Given the description of an element on the screen output the (x, y) to click on. 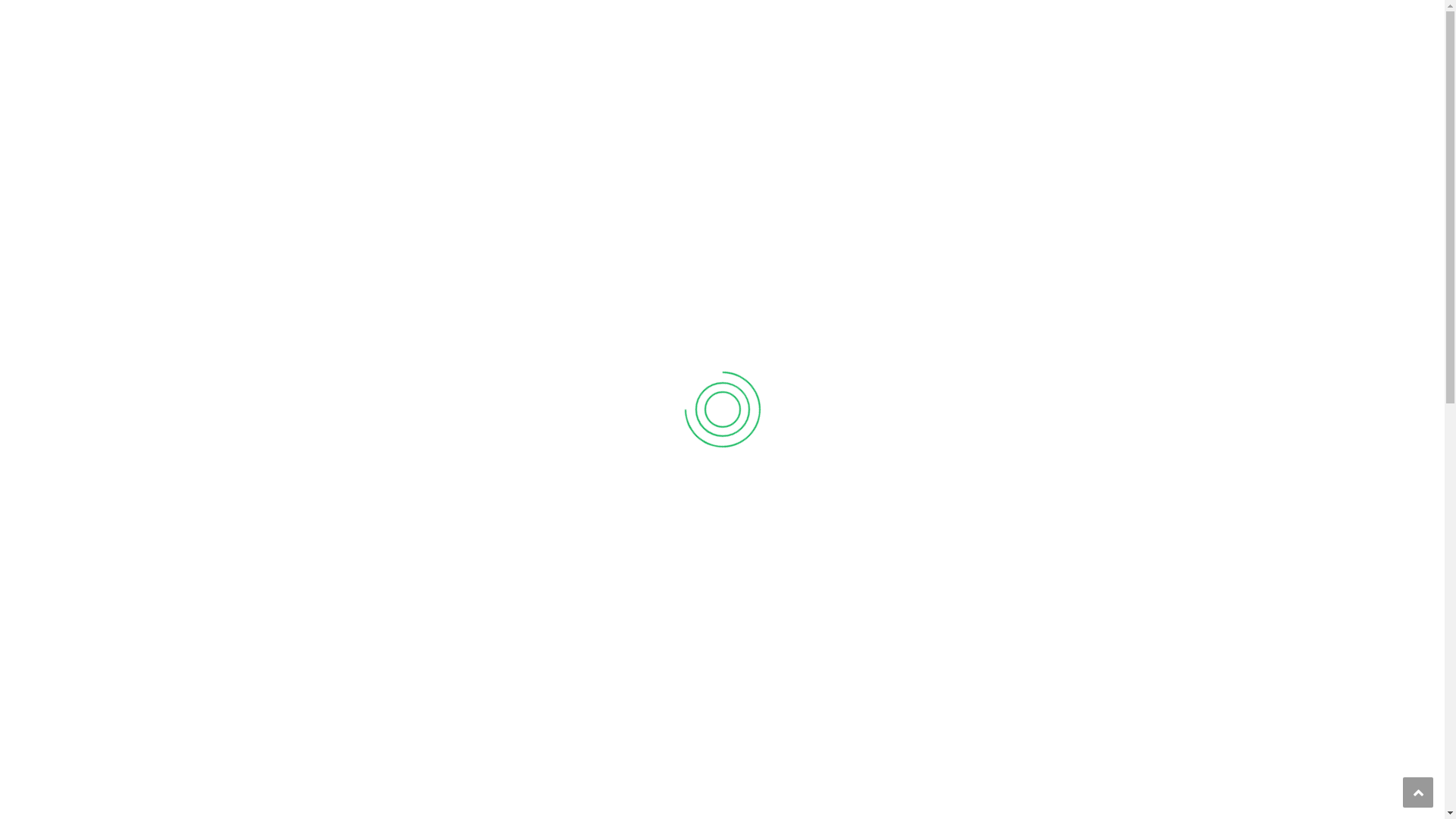
VIDEOS Element type: text (961, 68)
ARTICLES Element type: text (883, 68)
Search Element type: text (1144, 126)
CONTACT Element type: text (1131, 68)
HOME Element type: text (598, 68)
WHAT WE DO Element type: text (788, 68)
Accounting Taxation Element type: text (962, 698)
Bookkeeping Element type: text (939, 743)
CLIENT PORTAL LOGIN Element type: text (941, 14)
Cashflow Management Element type: text (570, 717)
The Complimentary Client Review Element type: text (570, 537)
HOW WE HELP Element type: text (683, 68)
Adelaide Accountants Element type: hover (345, 68)
Business Planning Element type: text (570, 767)
Business Strategy Element type: text (953, 789)
Home Element type: text (372, 125)
GET AN APPOINTMENT Element type: text (1086, 17)
RESOURCES Element type: text (1045, 68)
